Given the description of an element on the screen output the (x, y) to click on. 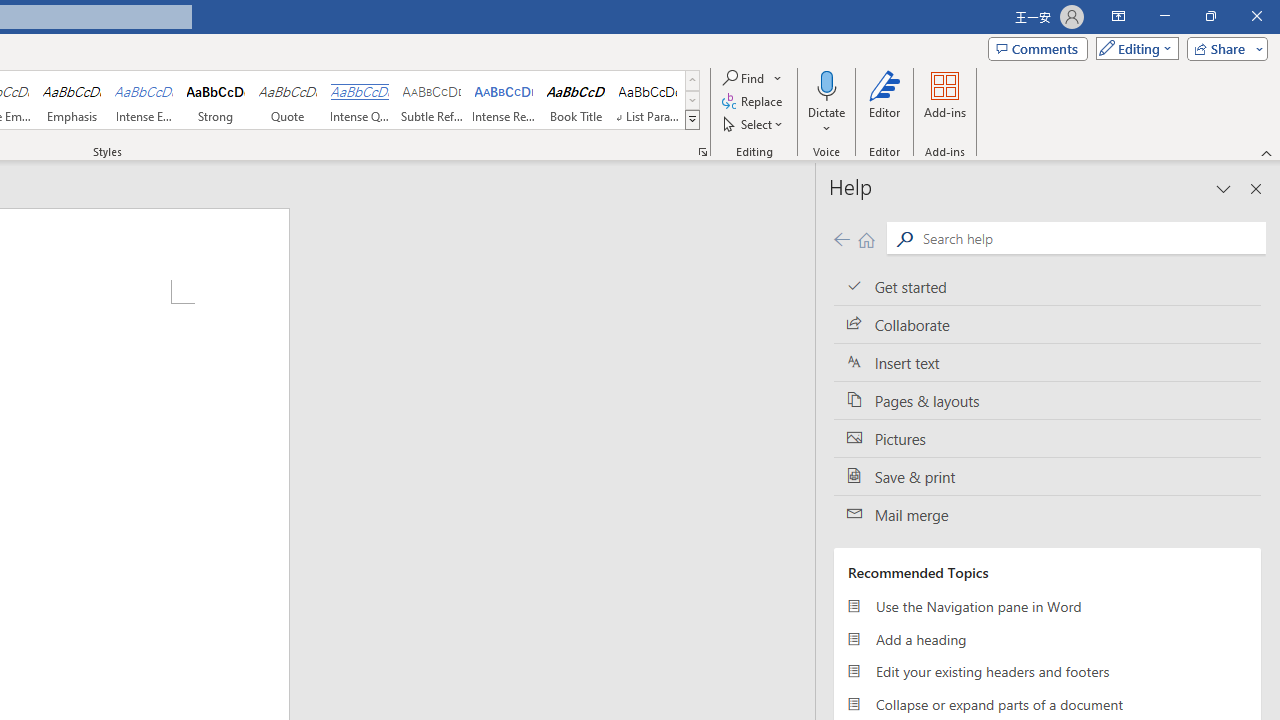
Intense Emphasis (143, 100)
Quote (287, 100)
Collapse or expand parts of a document (1047, 704)
Collaborate (1047, 325)
Pages & layouts (1047, 400)
Intense Reference (504, 100)
